Given the description of an element on the screen output the (x, y) to click on. 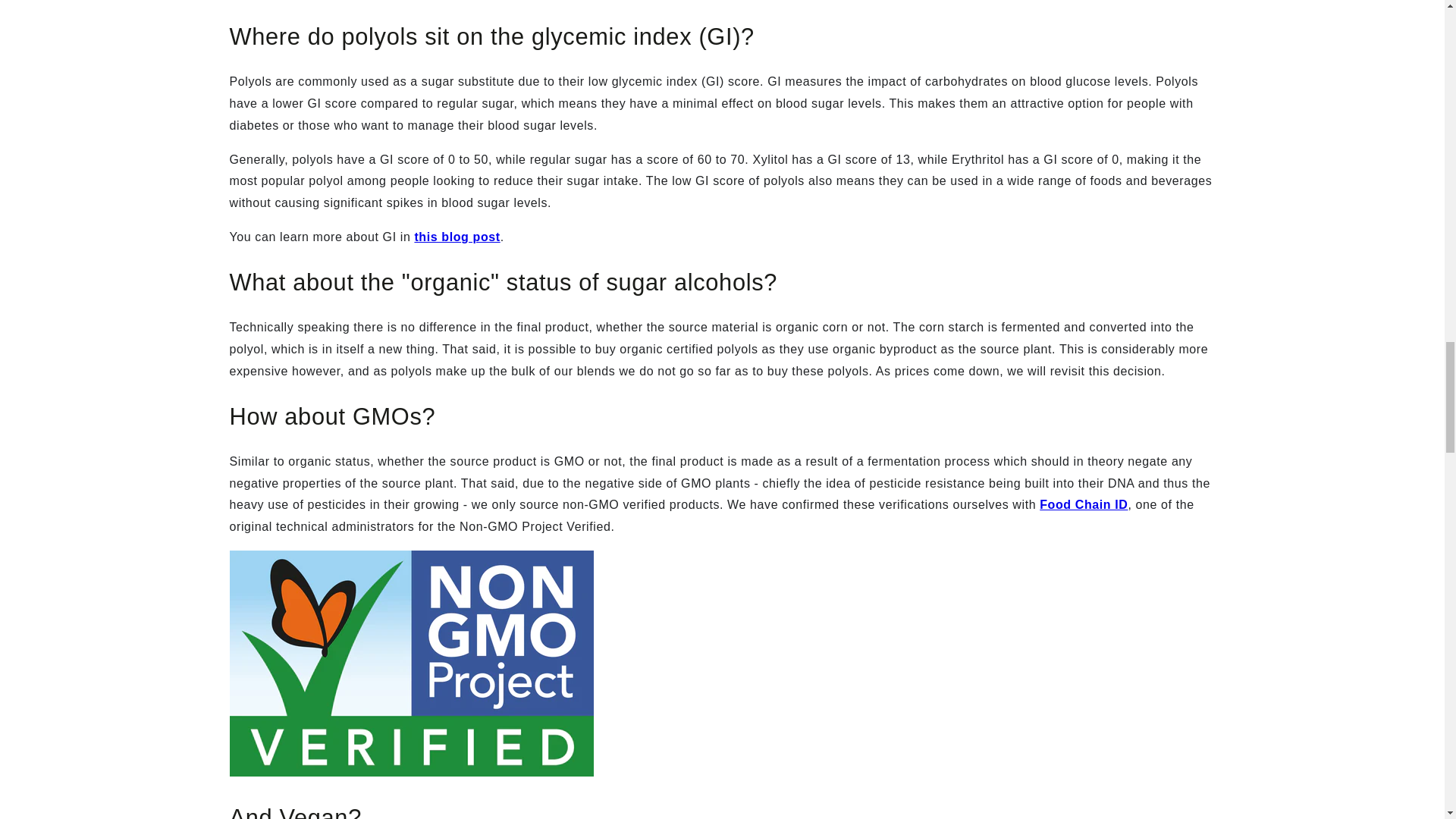
what-is-gi-or-glycemic-index? (456, 236)
